Given the description of an element on the screen output the (x, y) to click on. 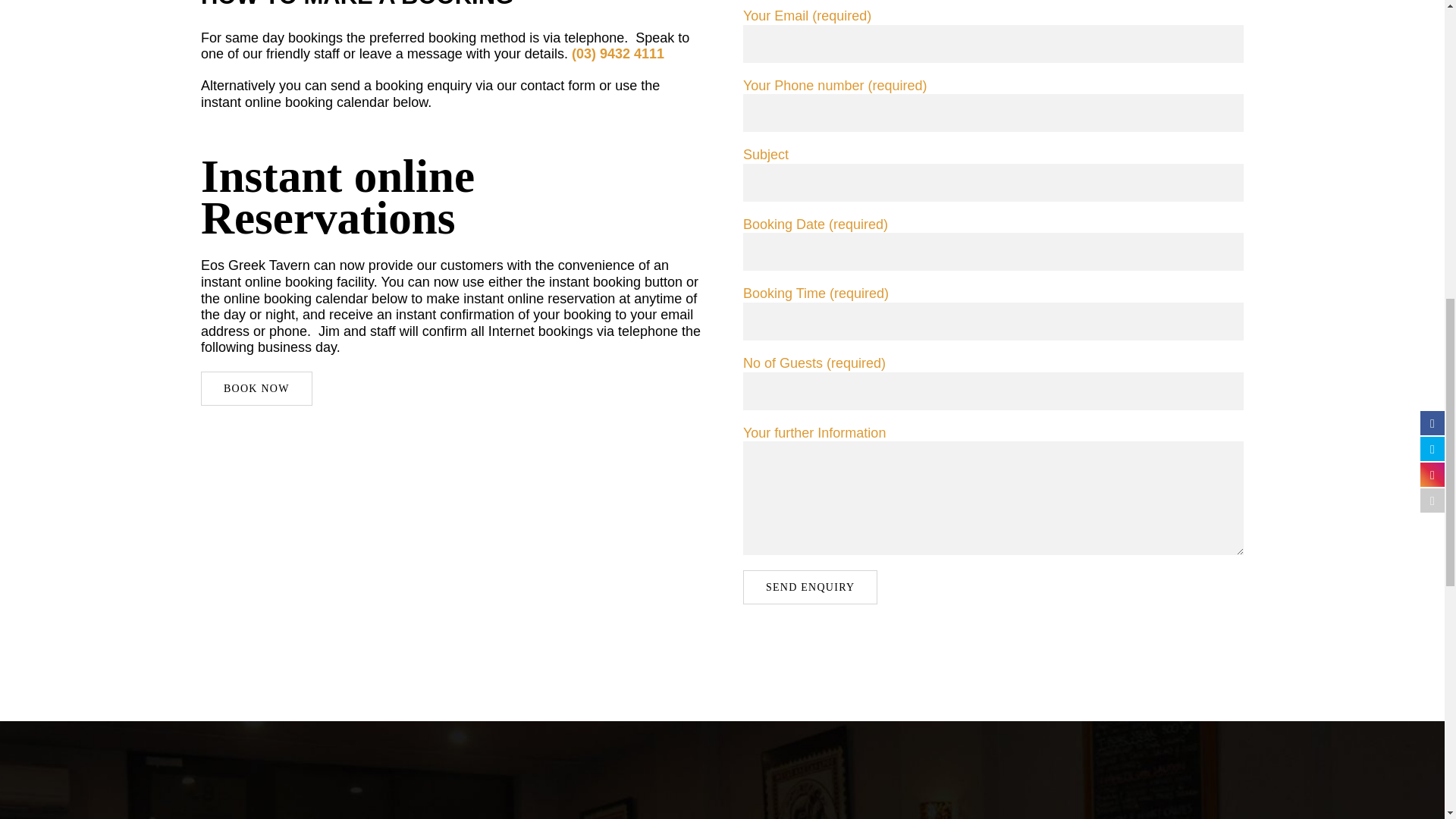
BOOK NOW (256, 388)
Send Enquiry (809, 587)
Send Enquiry (809, 587)
